Given the description of an element on the screen output the (x, y) to click on. 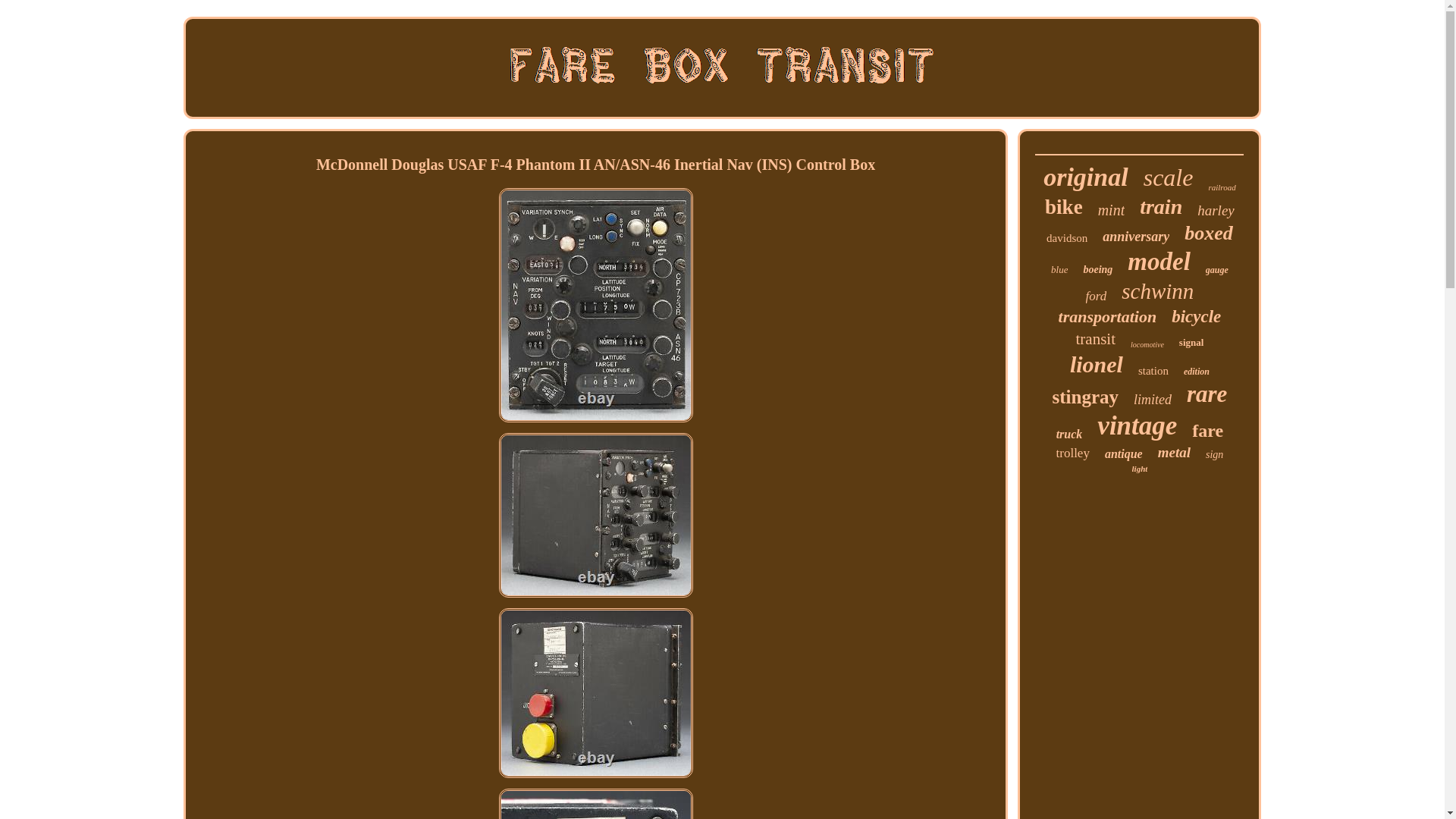
blue (1059, 269)
original (1084, 176)
gauge (1216, 270)
anniversary (1135, 236)
harley (1215, 210)
limited (1153, 399)
model (1157, 262)
ford (1096, 296)
mint (1111, 210)
boxed (1209, 232)
davidson (1066, 237)
train (1161, 206)
scale (1167, 177)
transportation (1107, 316)
railroad (1221, 186)
